Given the description of an element on the screen output the (x, y) to click on. 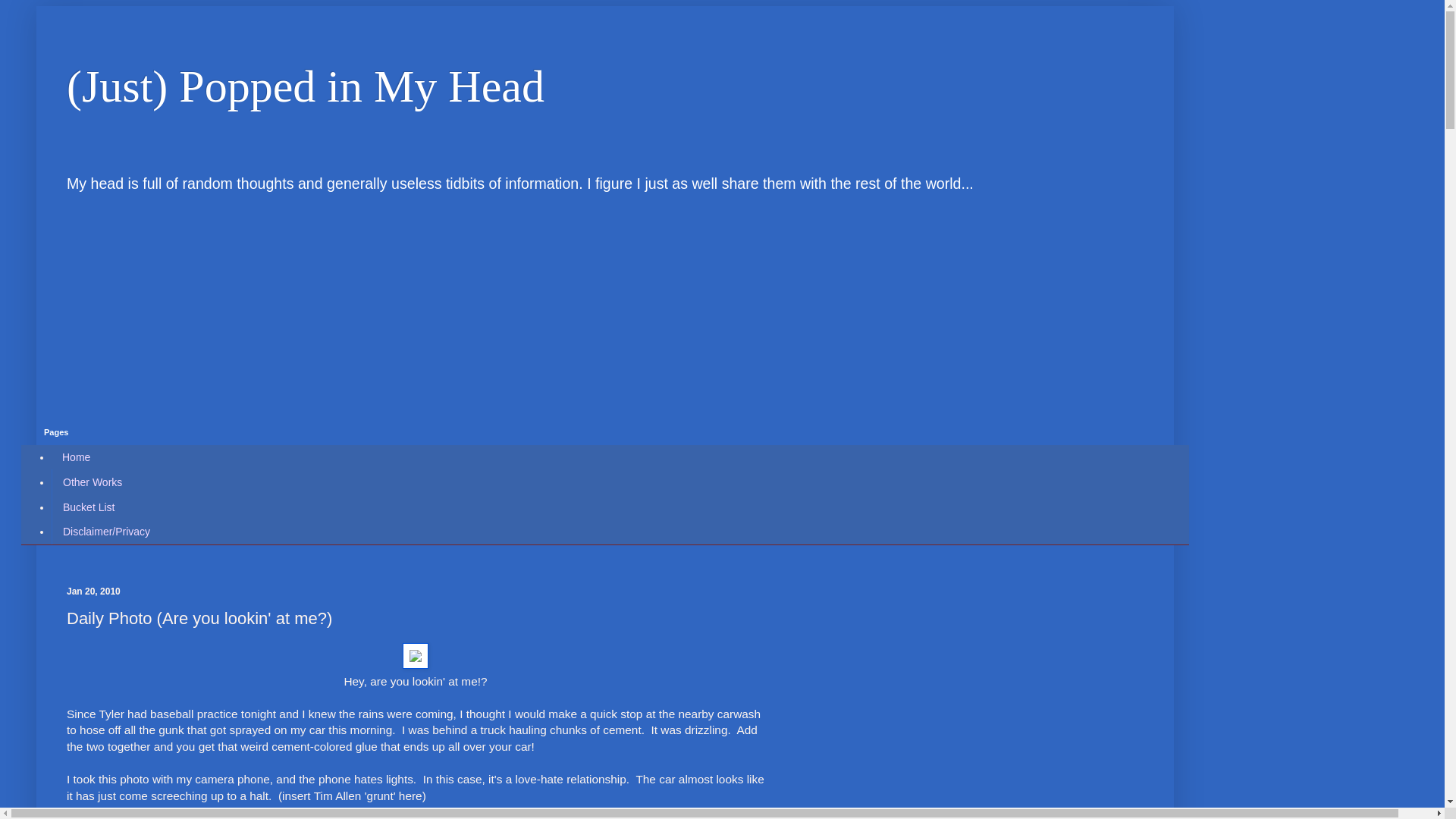
Other Works (91, 481)
Home (75, 457)
Bucket List (87, 506)
